Given the description of an element on the screen output the (x, y) to click on. 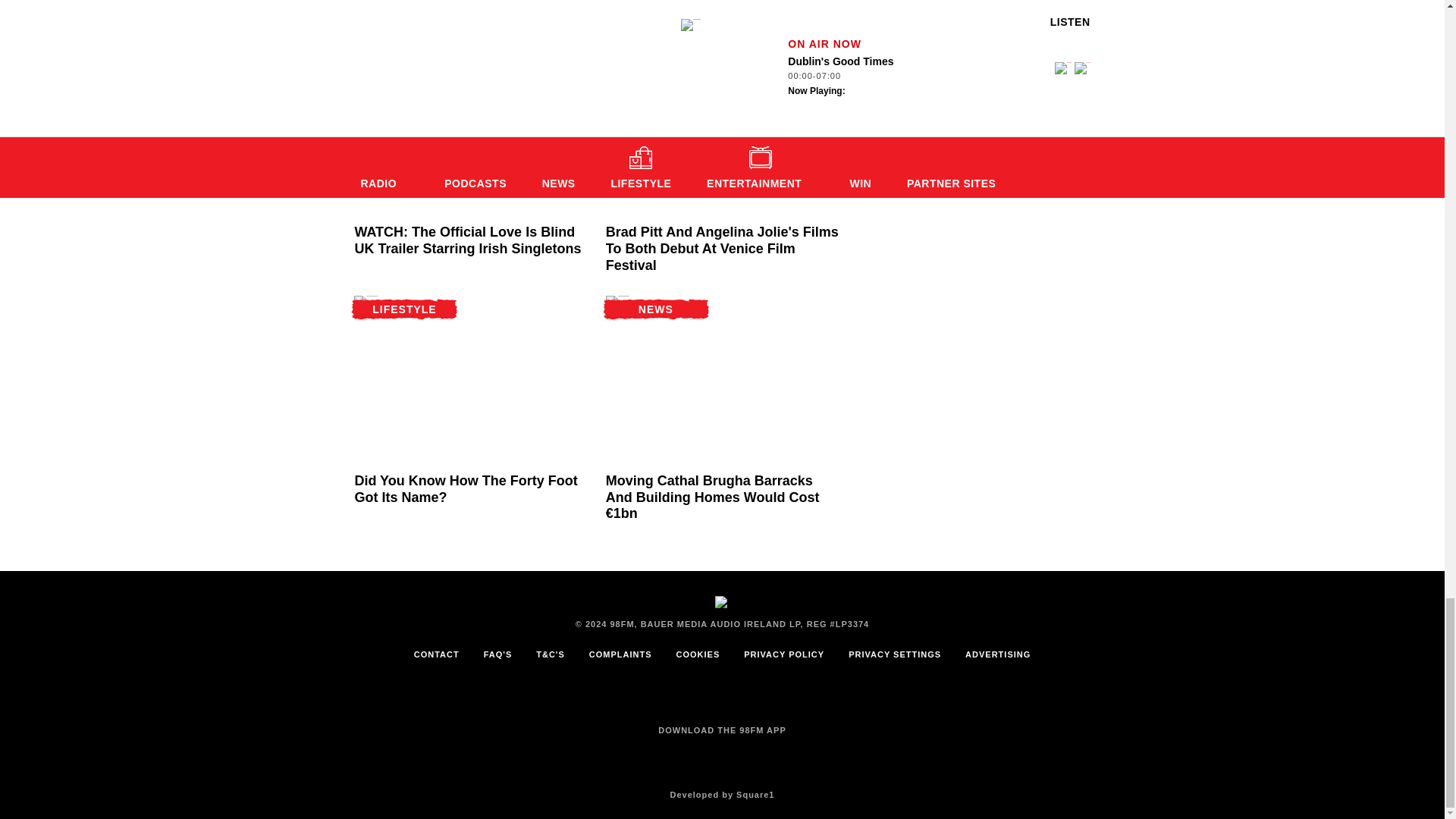
FAQ's (497, 654)
Contact (436, 654)
